Given the description of an element on the screen output the (x, y) to click on. 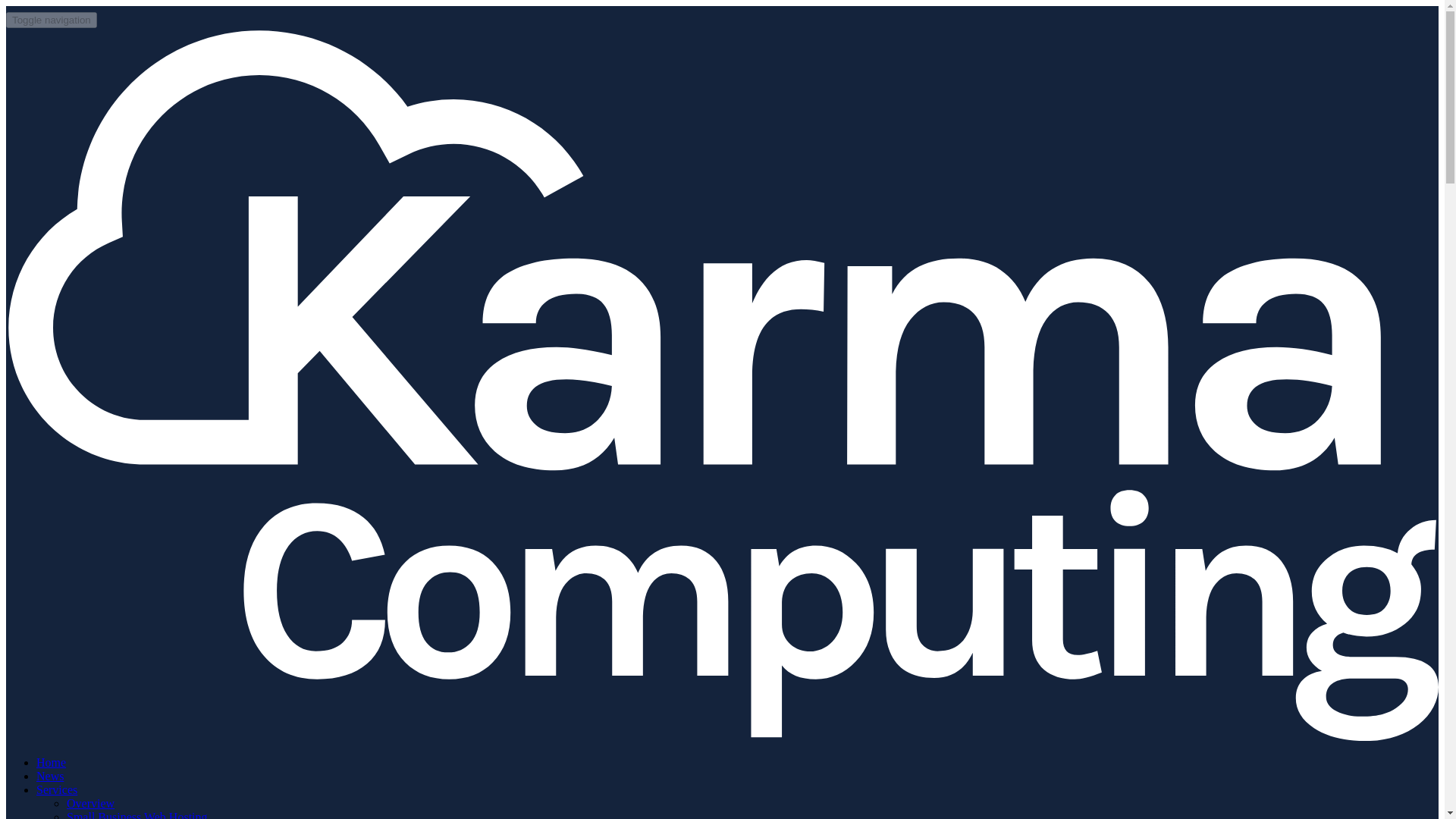
News (50, 775)
Home (50, 762)
Toggle navigation (51, 19)
Services (56, 789)
Small Business Web Hosting (137, 814)
Overview (90, 802)
